Given the description of an element on the screen output the (x, y) to click on. 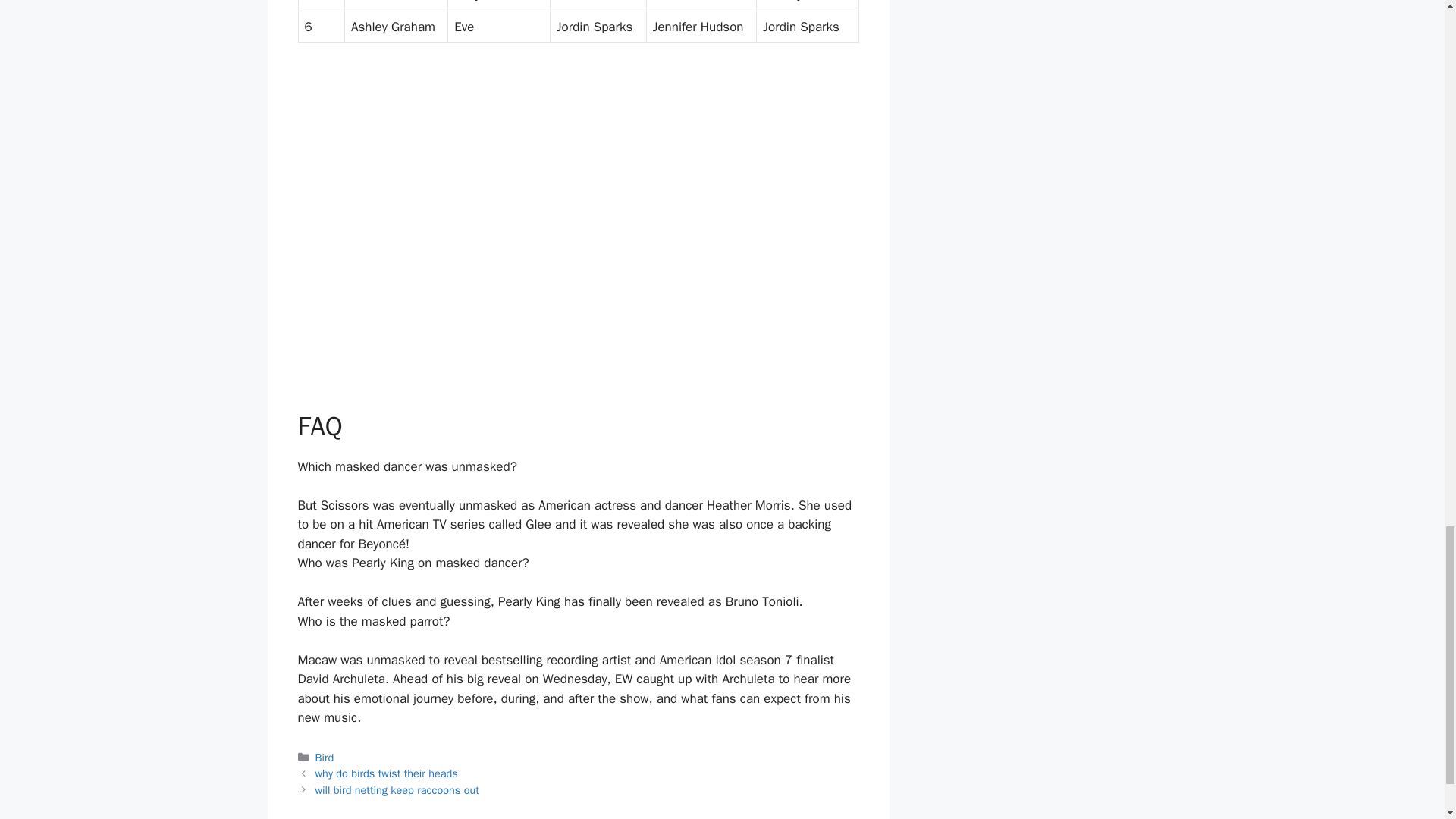
will bird netting keep raccoons out (397, 789)
Bird (324, 757)
why do birds twist their heads (386, 773)
